Given the description of an element on the screen output the (x, y) to click on. 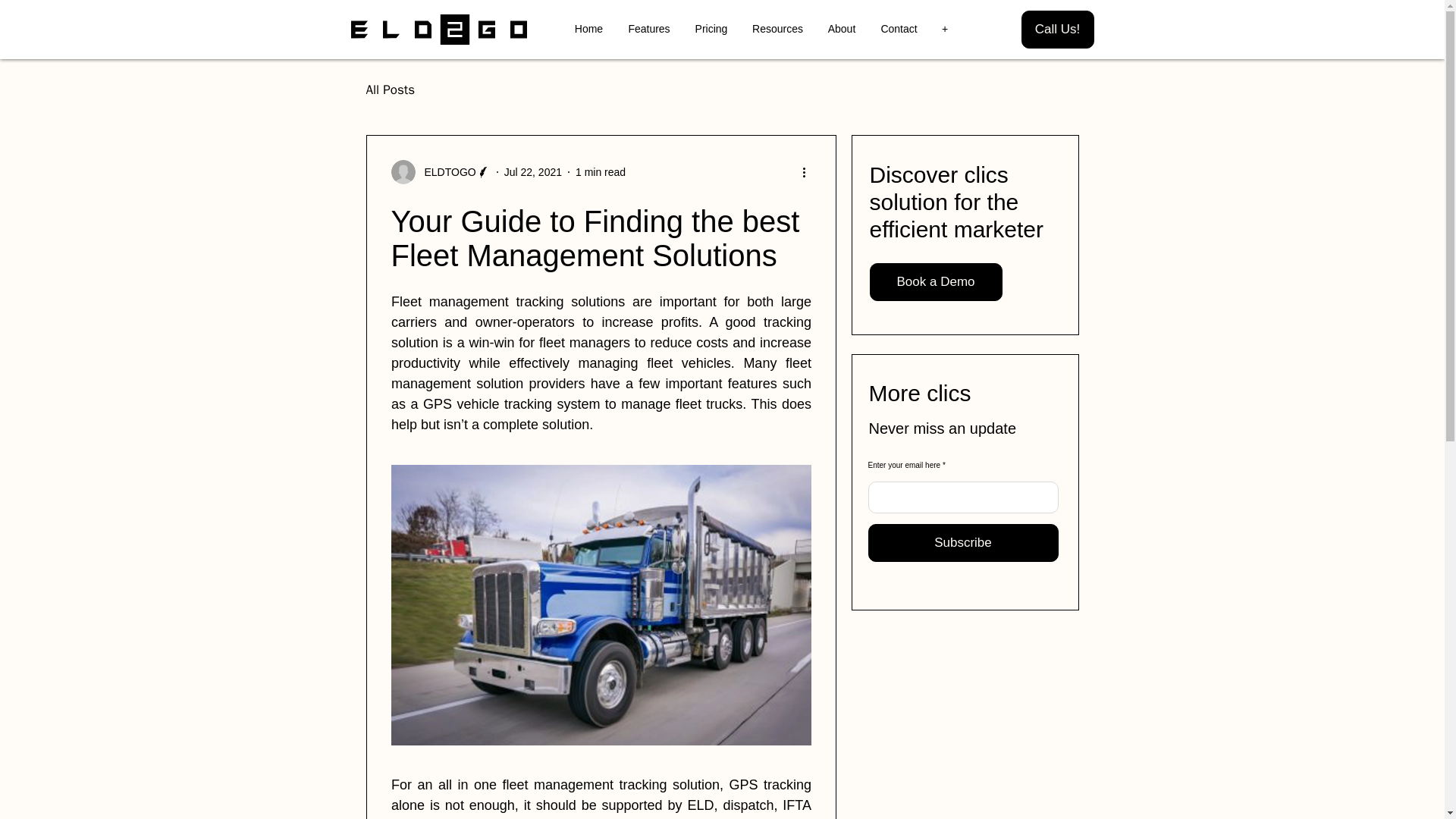
Subscribe (962, 542)
Resources (777, 28)
All Posts (389, 88)
ELDTOGO (445, 171)
Book a Demo (935, 281)
Pricing (710, 28)
Contact (898, 28)
Home (588, 28)
Jul 22, 2021 (532, 171)
1 min read (600, 171)
Features (648, 28)
ELDTOGO (440, 171)
Call Us! (1056, 29)
About (841, 28)
